Given the description of an element on the screen output the (x, y) to click on. 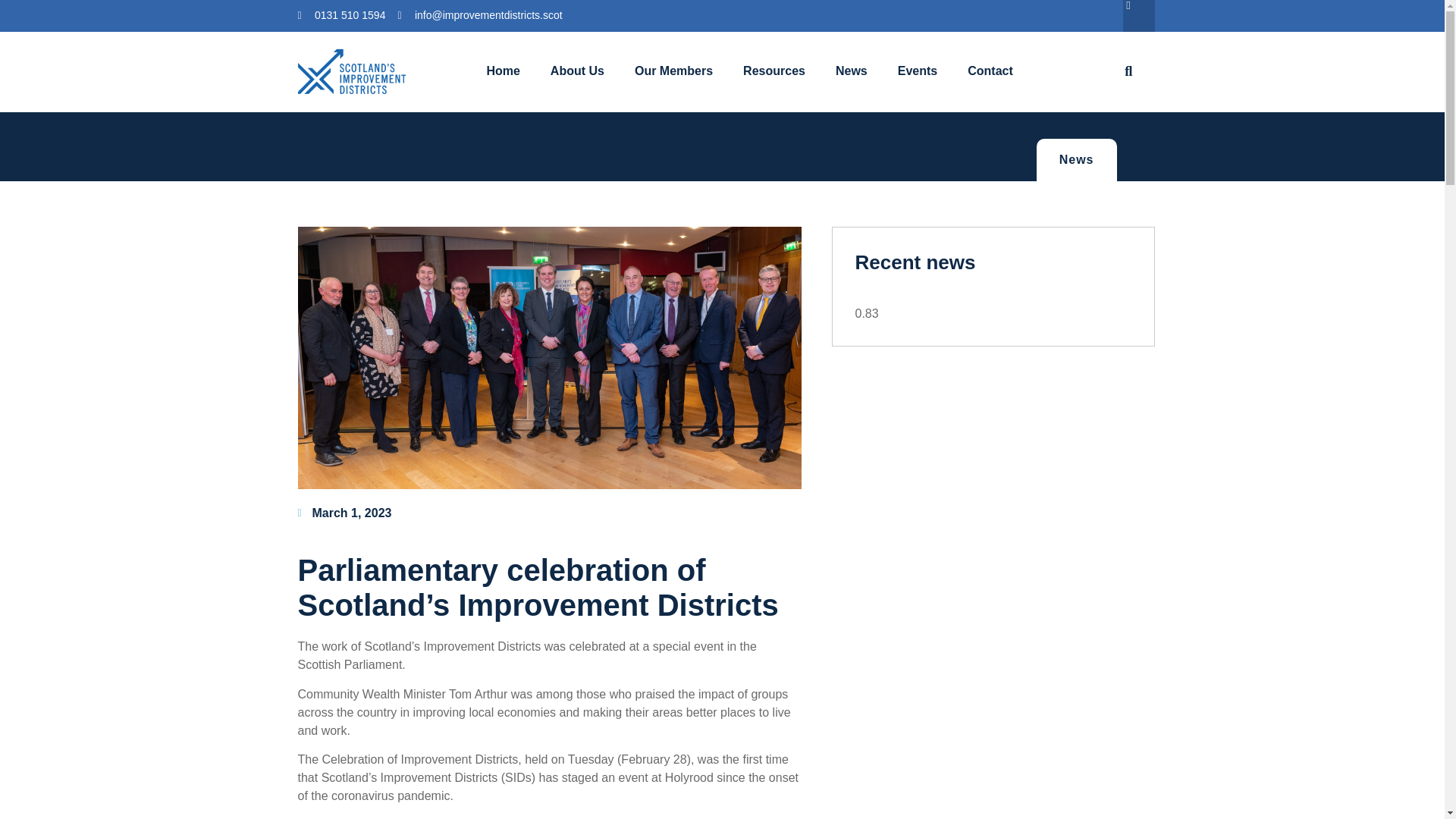
0131 510 1594 (341, 15)
Our Members (674, 71)
News (1076, 159)
Events (917, 71)
Resources (774, 71)
Contact (989, 71)
News (851, 71)
About Us (577, 71)
Home (502, 71)
